Given the description of an element on the screen output the (x, y) to click on. 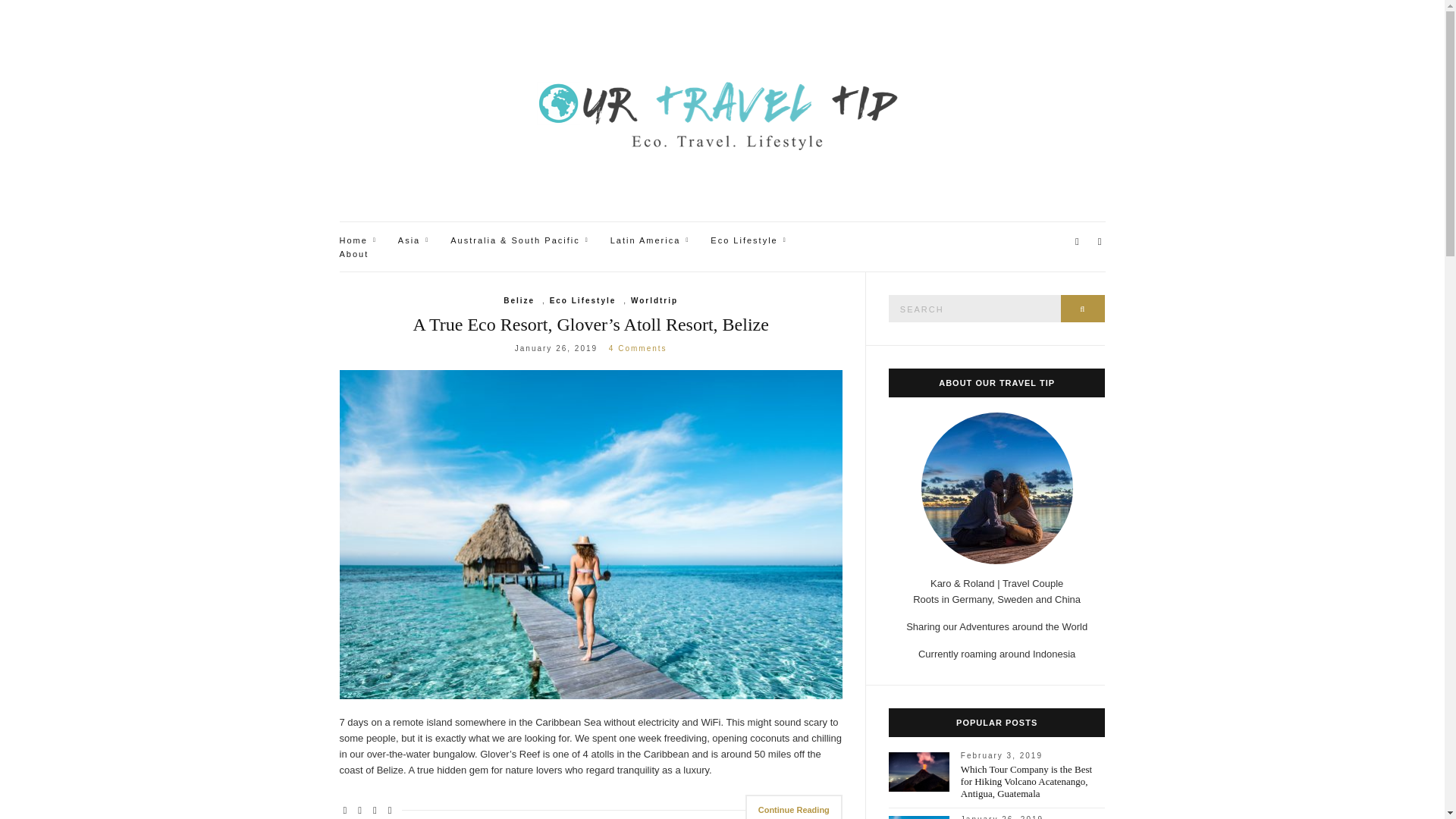
Home (357, 241)
